Given the description of an element on the screen output the (x, y) to click on. 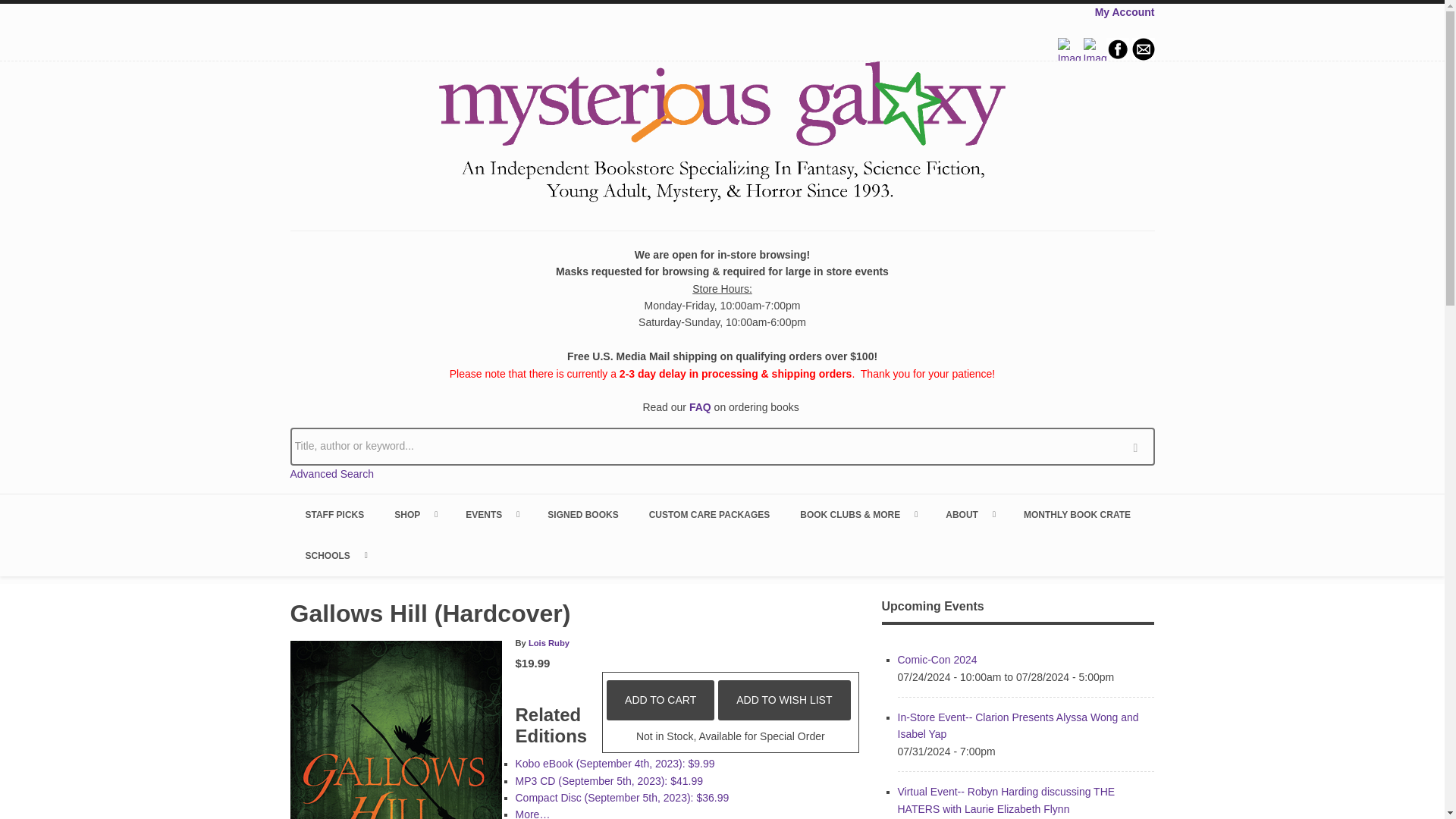
Title, author or keyword... (721, 446)
FAQ (699, 407)
STAFF PICKS (333, 514)
EVENTS (490, 514)
SHOP (413, 514)
Add to Cart (660, 699)
Home (722, 134)
Add to Wish List (783, 699)
Advanced Search (331, 473)
My Account (1124, 11)
